Given the description of an element on the screen output the (x, y) to click on. 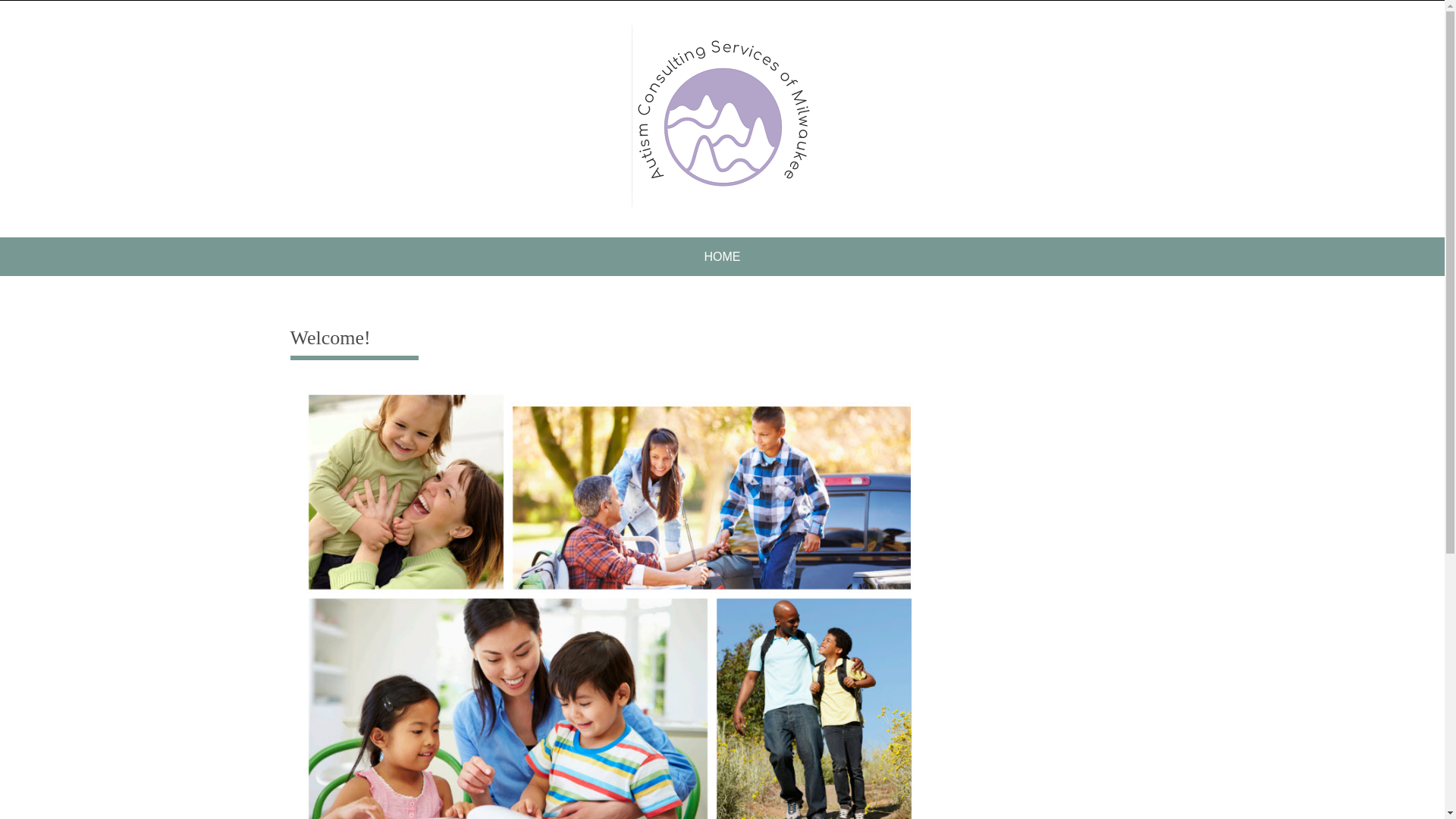
HOME (721, 256)
Autism Consulting Services of Milwaukee  (721, 116)
